Given the description of an element on the screen output the (x, y) to click on. 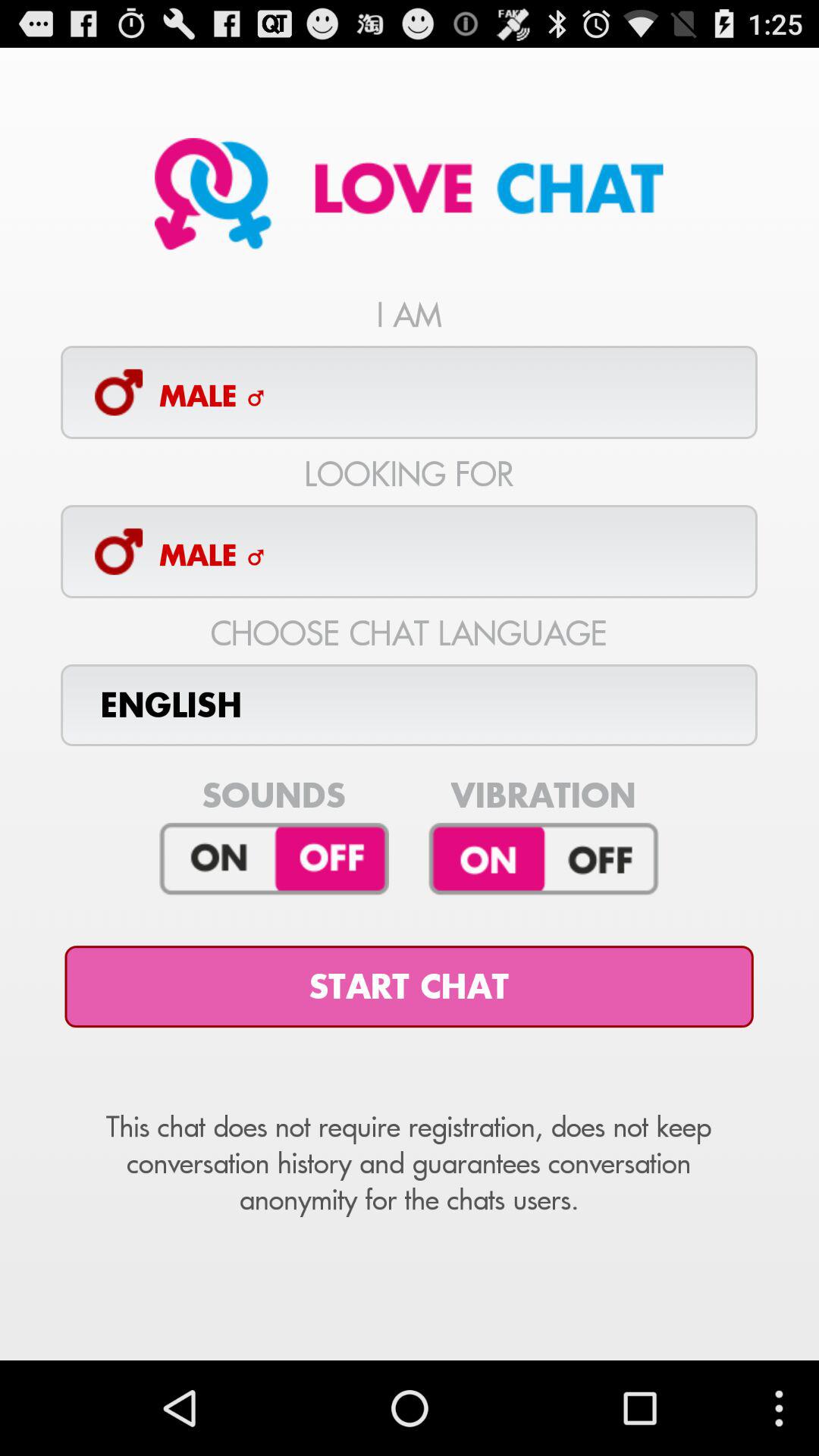
turn sound off or on (274, 858)
